Given the description of an element on the screen output the (x, y) to click on. 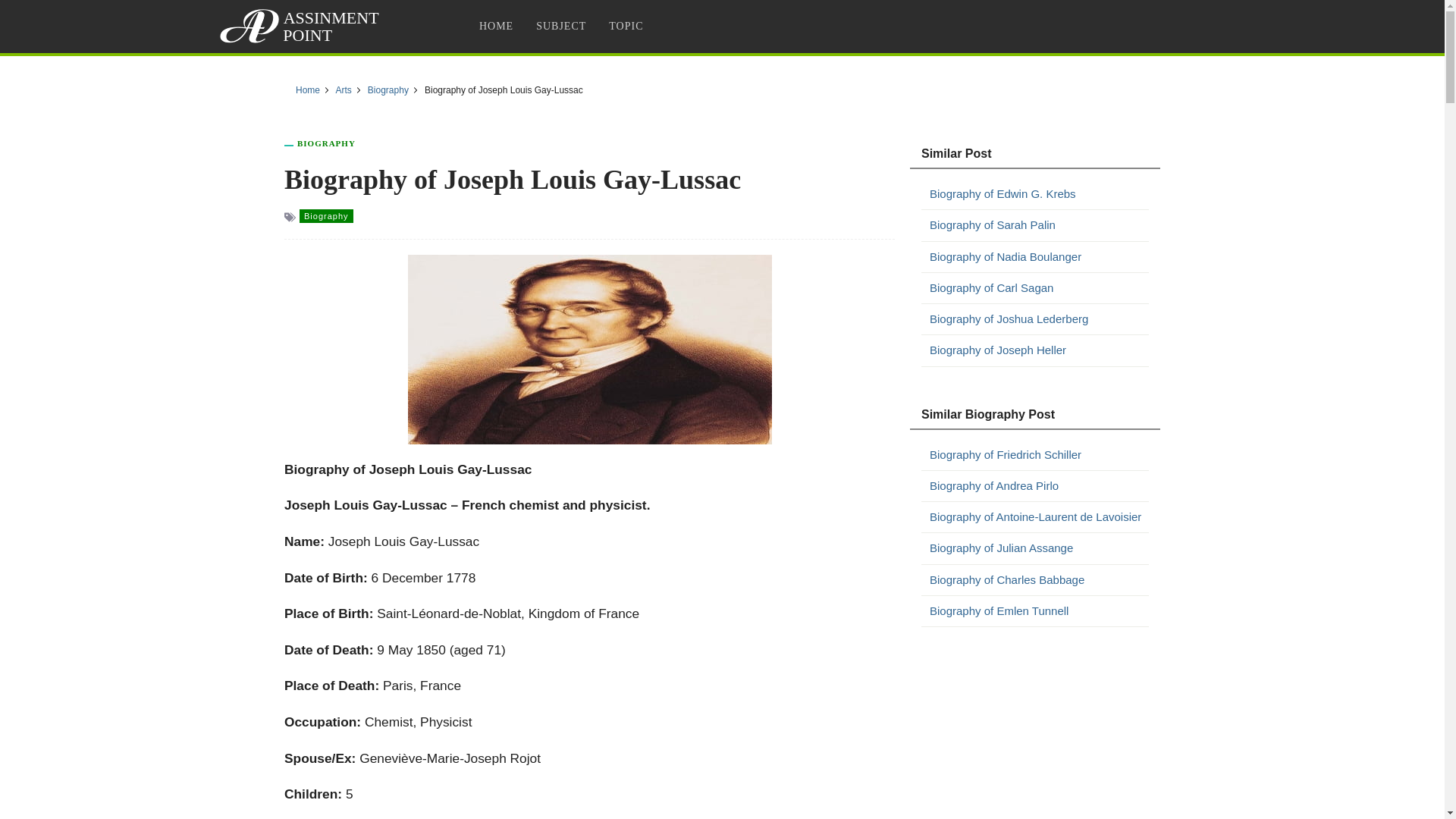
Biography of Edwin G. Krebs (1039, 193)
Biography of Nadia Boulanger (1039, 256)
Biography of Sarah Palin (1039, 225)
Biography (388, 90)
Topic (624, 26)
Biography of Carl Sagan (1039, 288)
Home (307, 90)
Biography of Antoine-Laurent de Lavoisier (1039, 516)
Biography (326, 215)
Biography of Sarah Palin (1039, 225)
Biography of Emlen Tunnell (1039, 610)
Assignment Point (301, 26)
Biography of Charles Babbage (1039, 579)
TOPIC (624, 26)
Subject (560, 26)
